Given the description of an element on the screen output the (x, y) to click on. 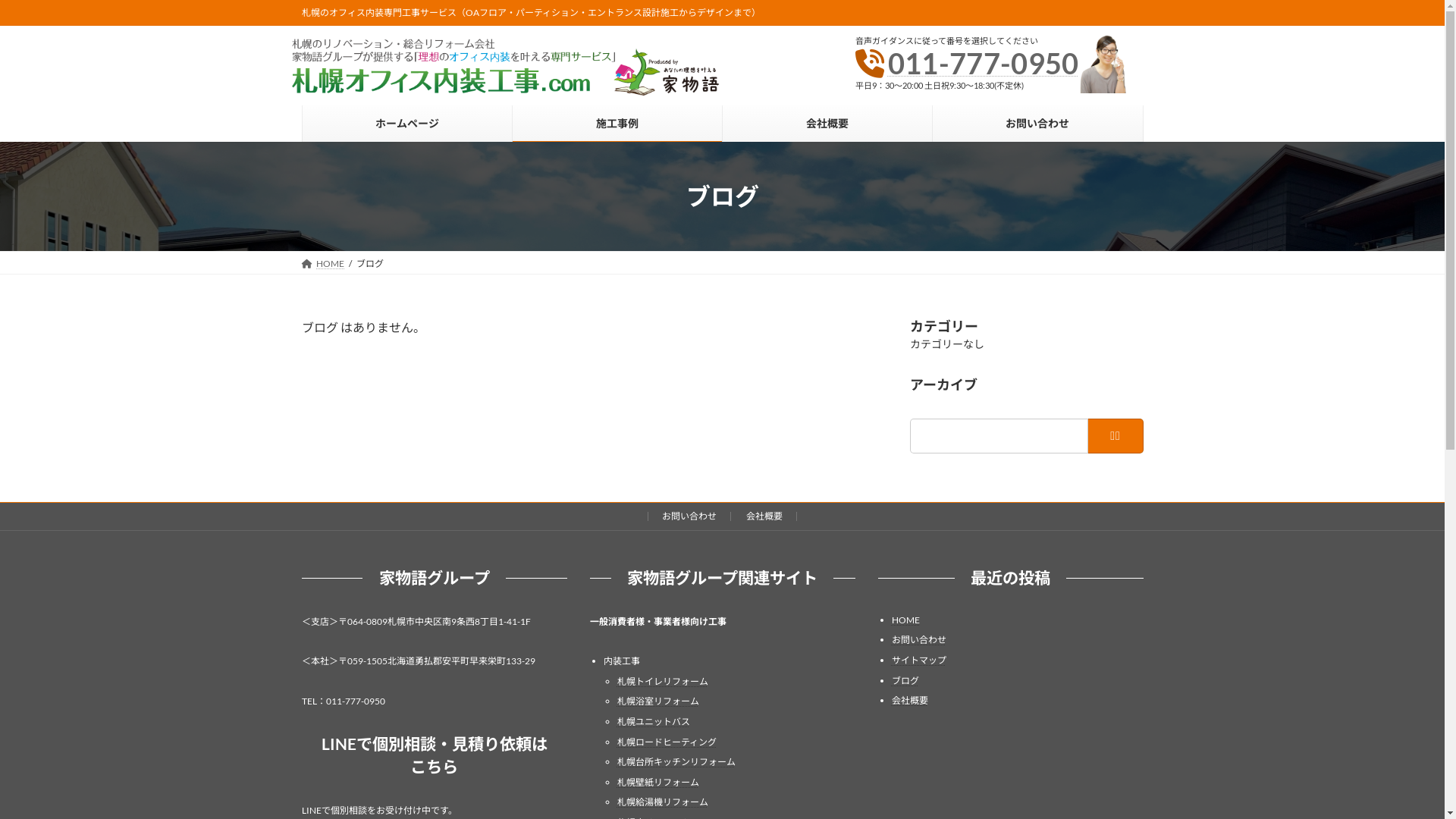
HOME Element type: text (323, 263)
011-777-0950 Element type: text (983, 62)
HOME Element type: text (905, 619)
